Given the description of an element on the screen output the (x, y) to click on. 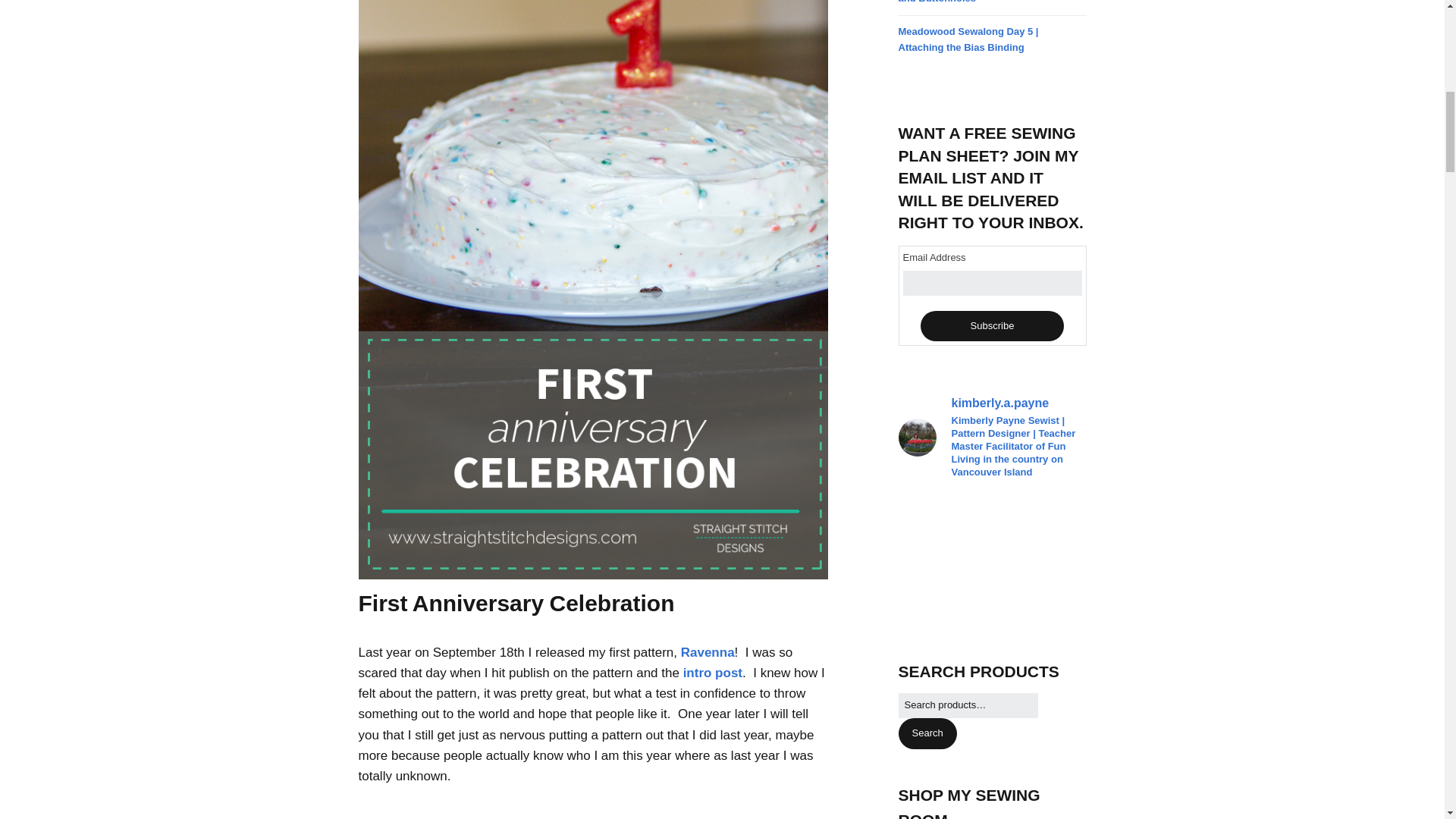
Ravenna (708, 652)
intro post (712, 672)
First Anniversary Celebration (516, 602)
Subscribe (992, 326)
